Given the description of an element on the screen output the (x, y) to click on. 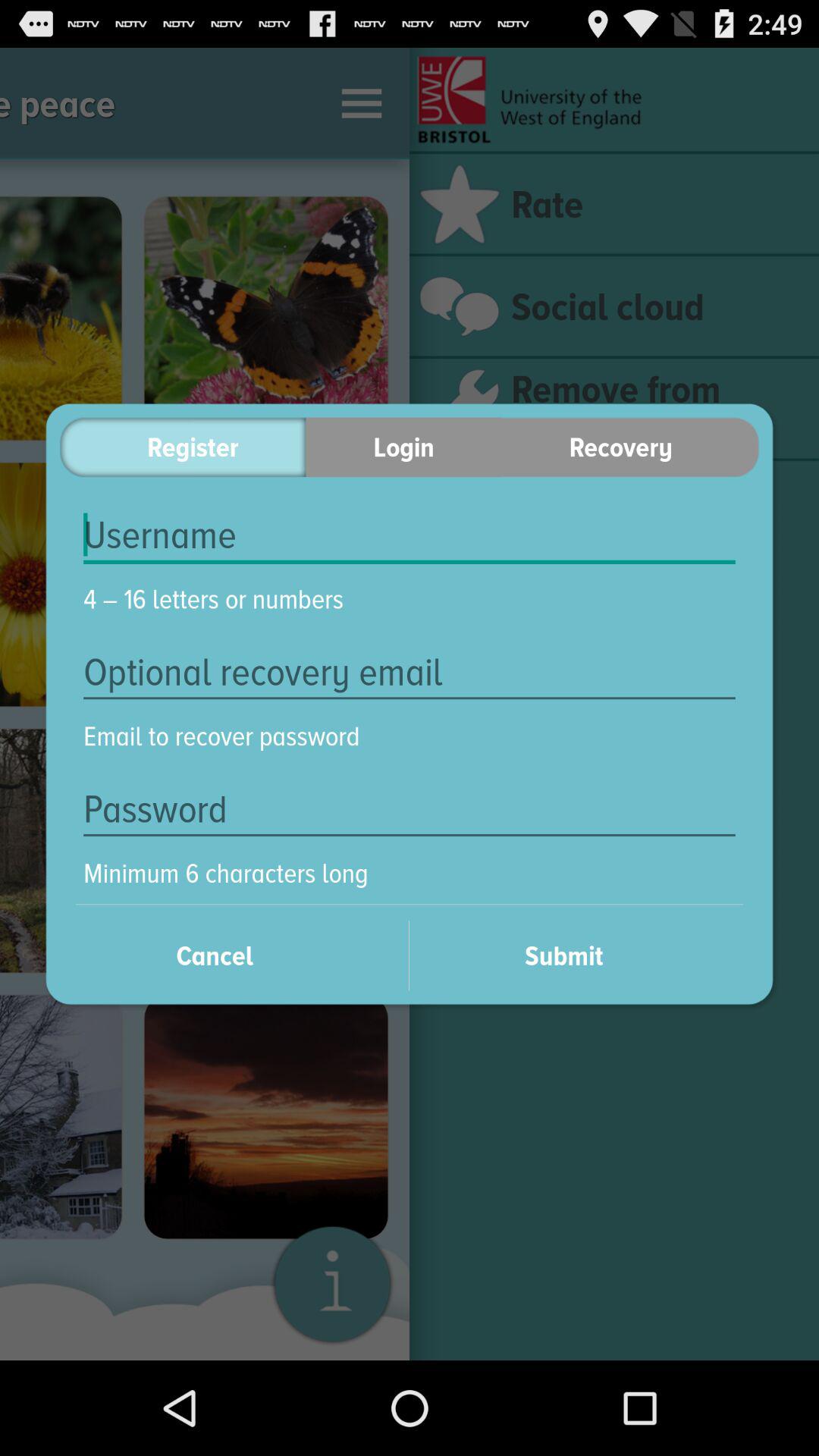
press cancel on the left (234, 955)
